Given the description of an element on the screen output the (x, y) to click on. 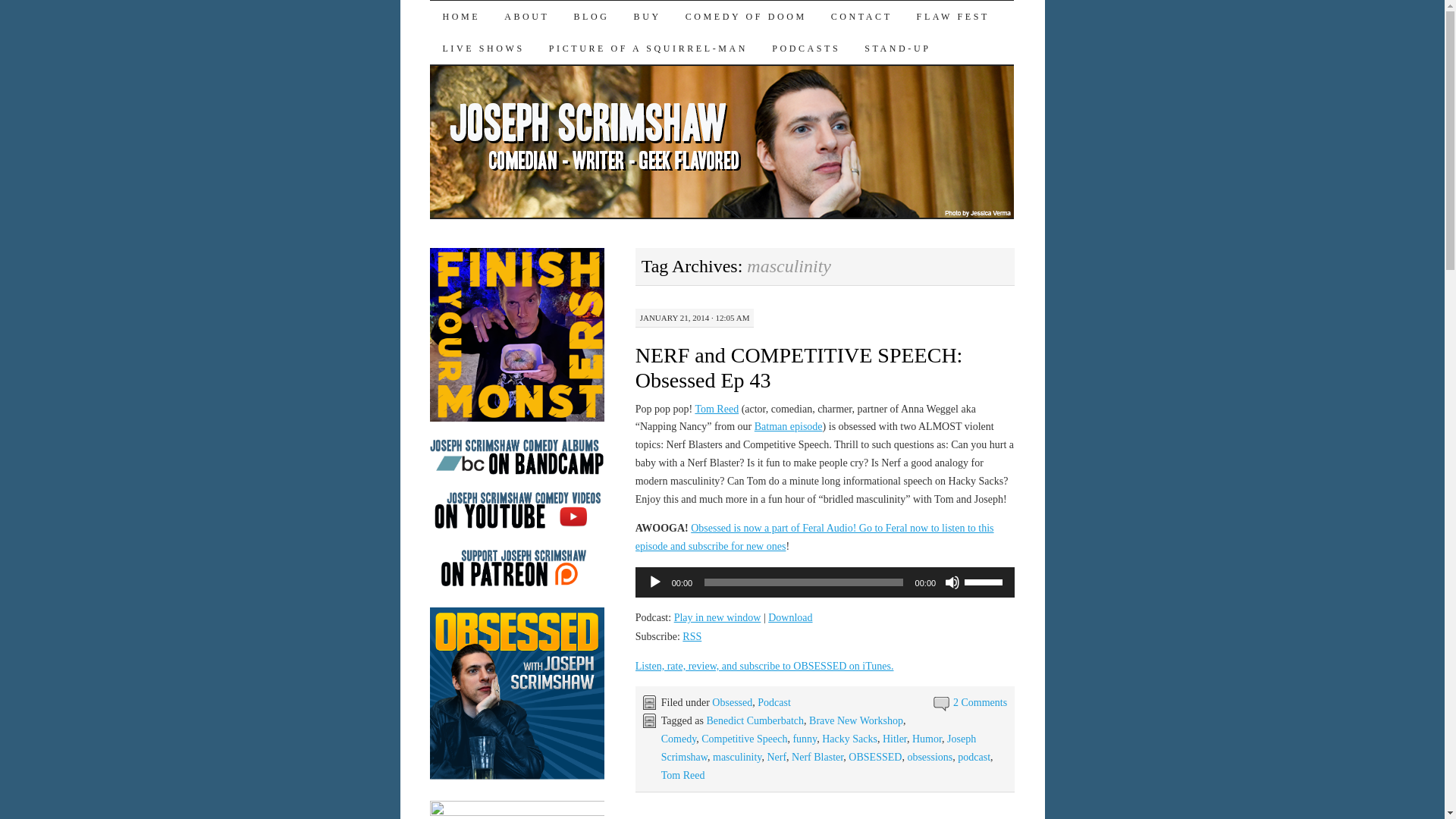
NERF and COMPETITIVE SPEECH: Obsessed Ep 43 (798, 367)
Mute (951, 581)
Download (790, 617)
FLAW FEST (952, 16)
Benedict Cumberbatch (754, 720)
LIVE SHOWS (482, 48)
Batman episode (788, 426)
Listen, rate, review, and subscribe to OBSESSED on iTunes. (763, 665)
COMEDY OF DOOM (745, 16)
masculinity (737, 756)
